Given the description of an element on the screen output the (x, y) to click on. 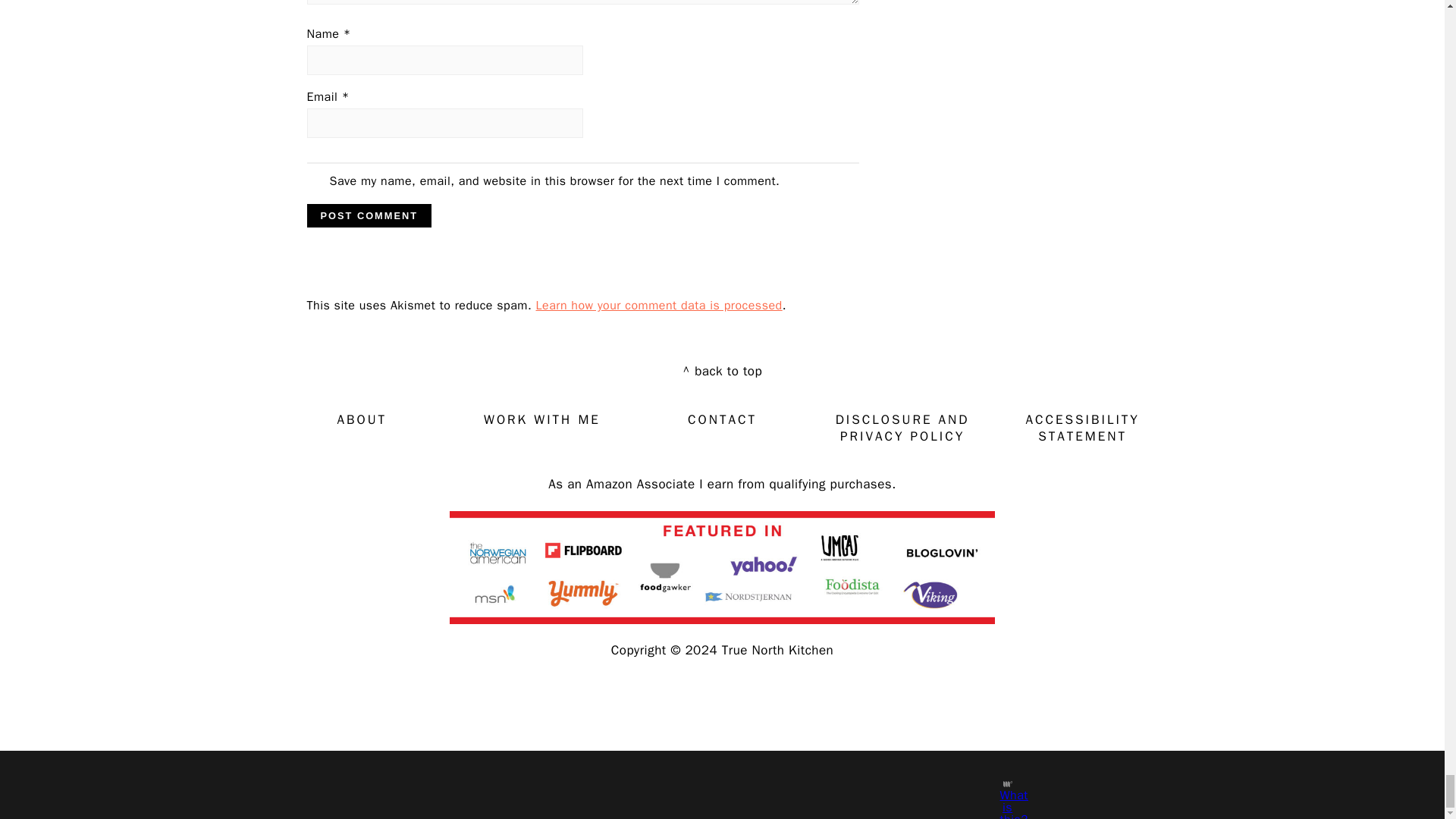
Post Comment (367, 215)
